Given the description of an element on the screen output the (x, y) to click on. 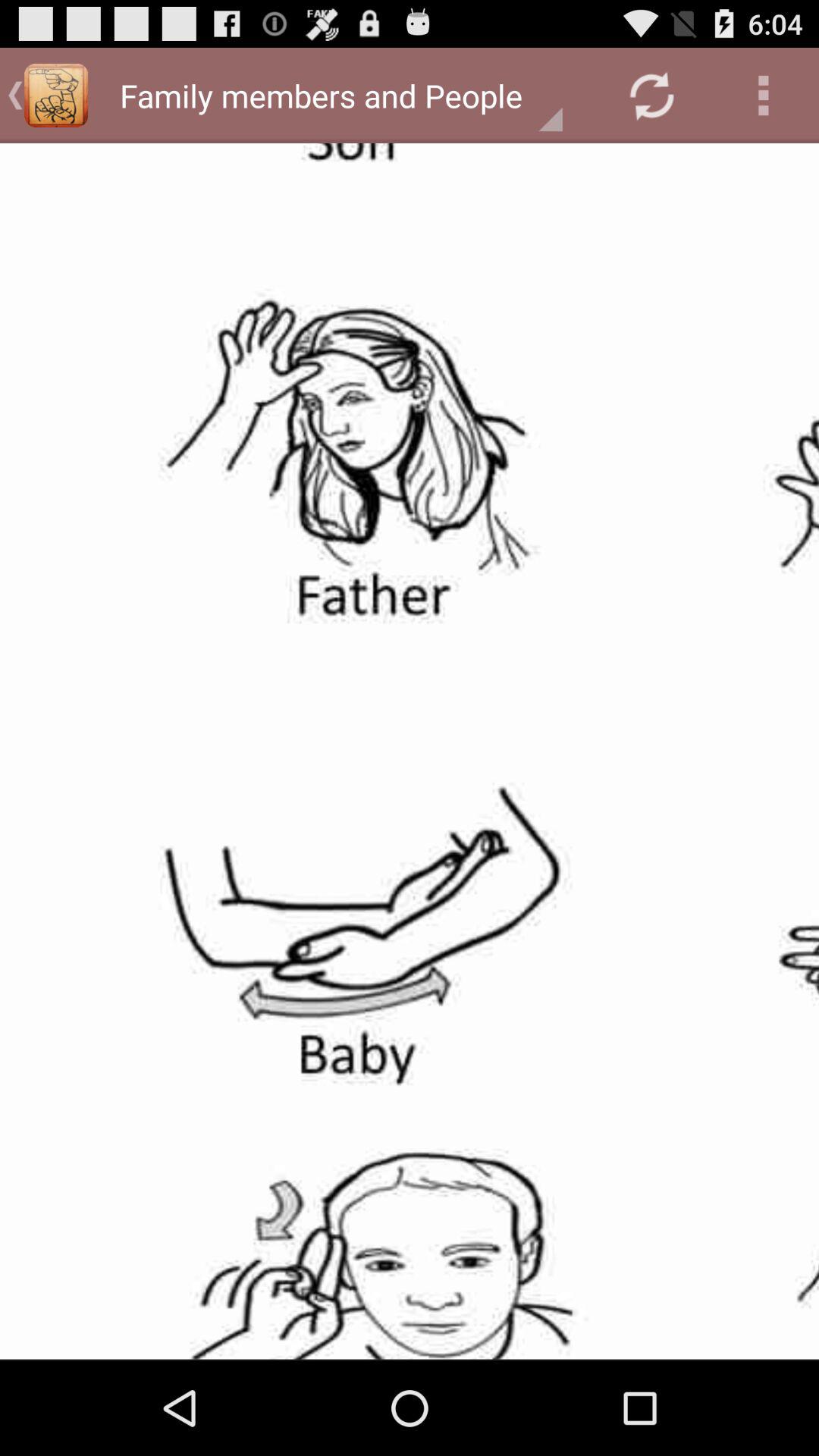
share the article (409, 751)
